Given the description of an element on the screen output the (x, y) to click on. 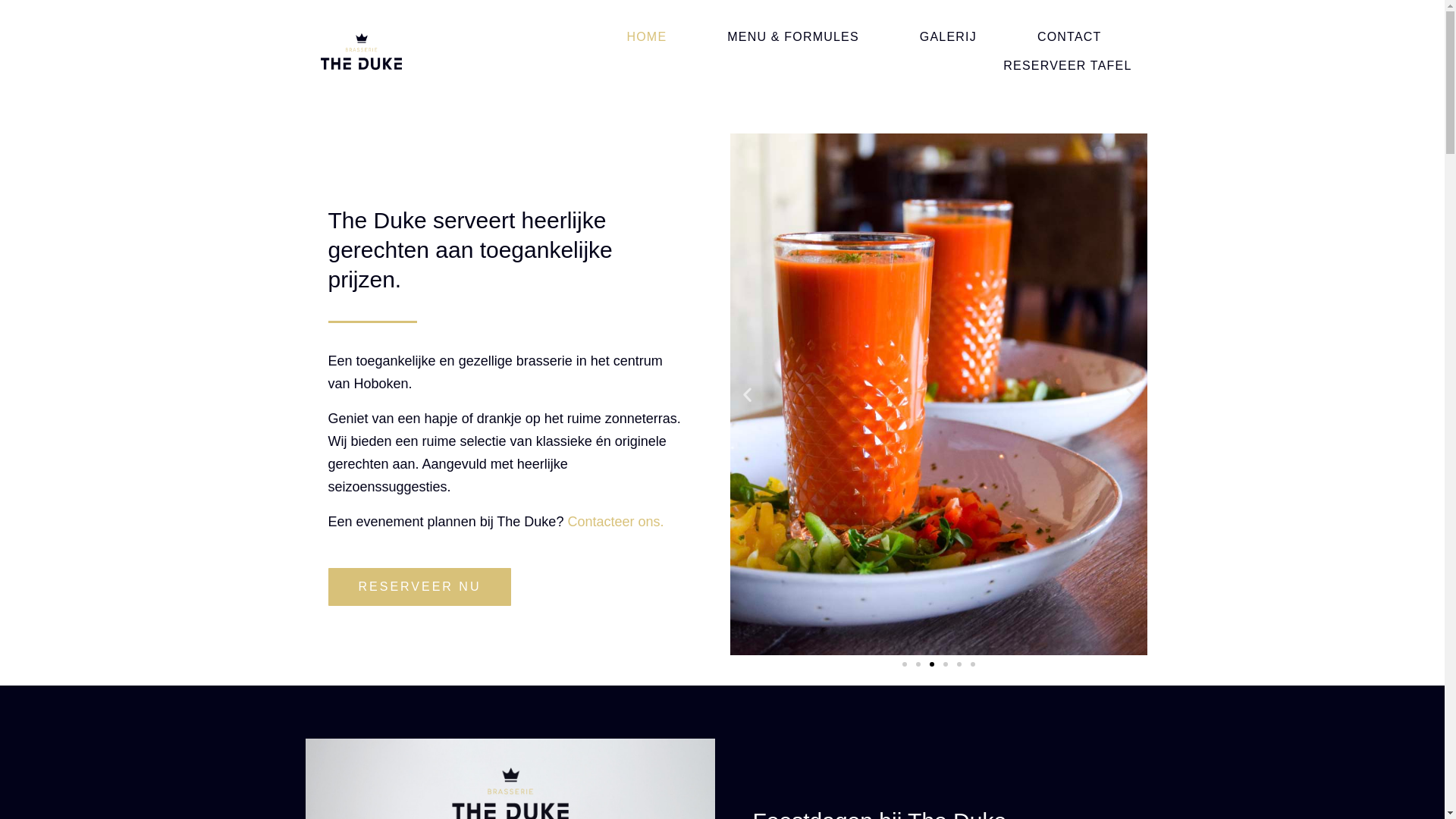
HOME Element type: text (646, 36)
RESERVEER TAFEL Element type: text (1067, 65)
Contacteer ons.  Element type: text (617, 521)
GALERIJ Element type: text (947, 36)
MENU & FORMULES Element type: text (793, 36)
RESERVEER NU Element type: text (419, 586)
CONTACT Element type: text (1069, 36)
